Given the description of an element on the screen output the (x, y) to click on. 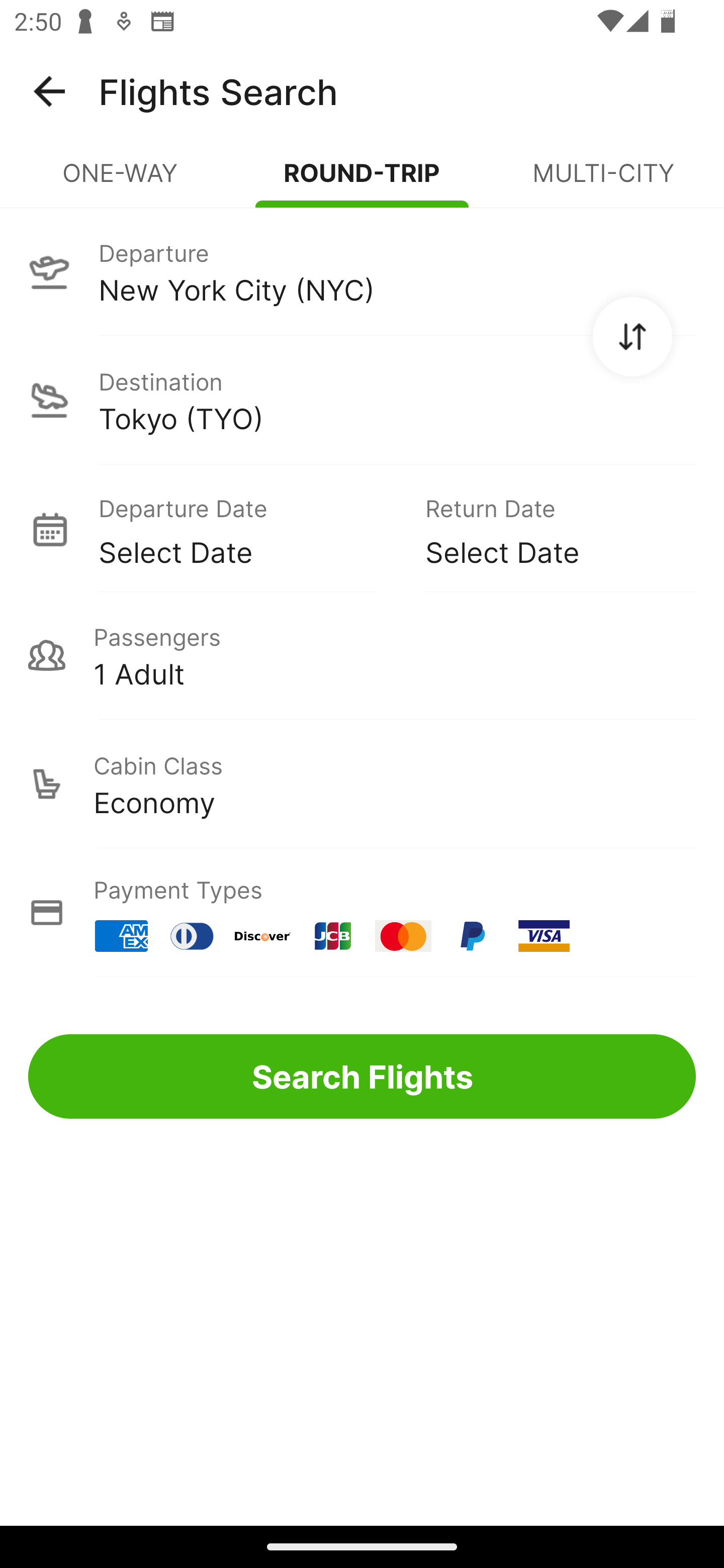
ONE-WAY (120, 180)
ROUND-TRIP (361, 180)
MULTI-CITY (603, 180)
Departure New York City (NYC) (362, 270)
Destination Tokyo (TYO) (362, 400)
Departure Date Select Date (247, 528)
Return Date Select Date (546, 528)
Passengers 1 Adult (362, 655)
Cabin Class Economy (362, 783)
Payment Types (362, 912)
Search Flights (361, 1075)
